Given the description of an element on the screen output the (x, y) to click on. 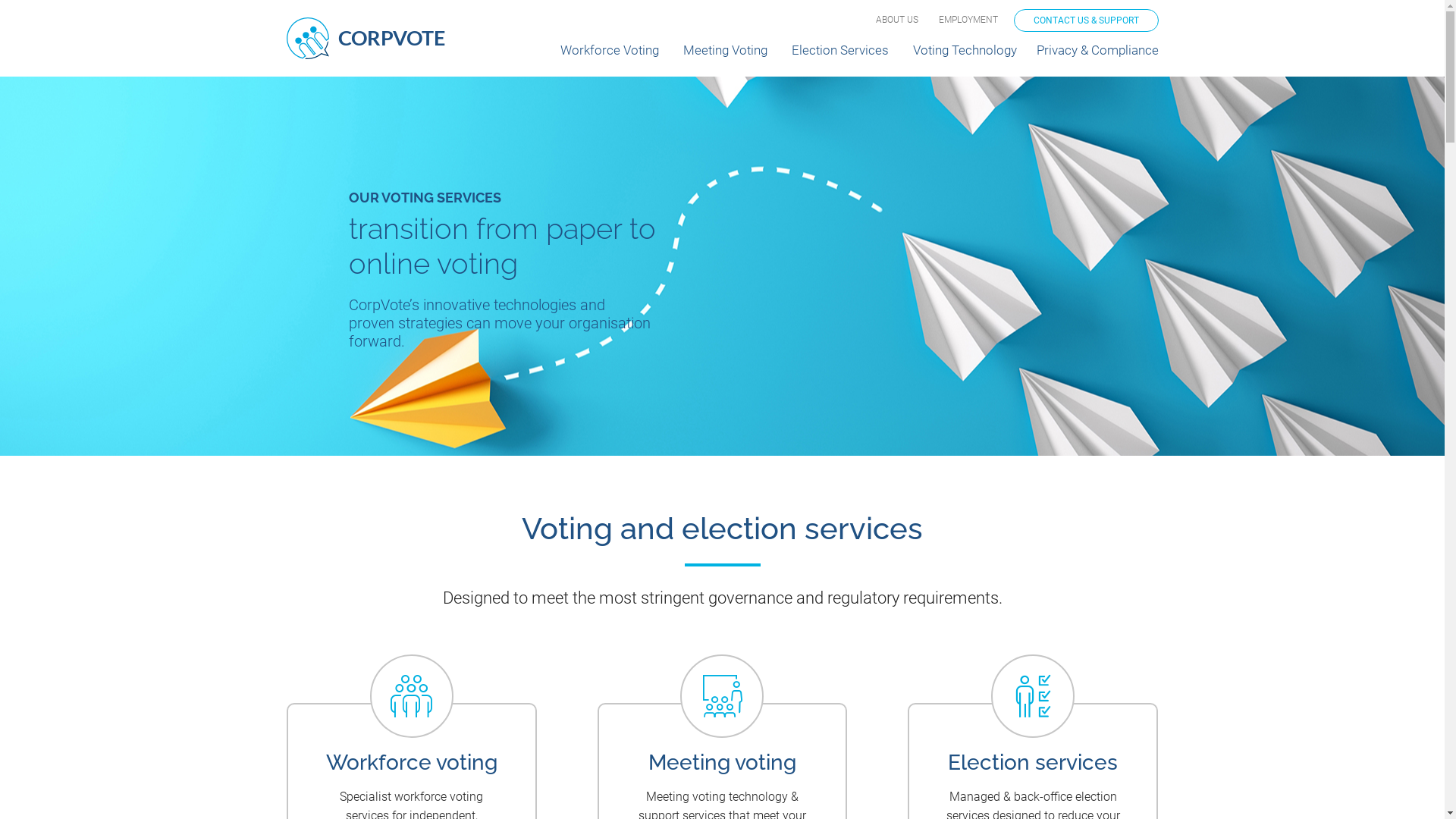
CORPVOTE Element type: text (365, 38)
Voting Technology Element type: text (964, 56)
Meeting Voting Element type: text (724, 56)
ABOUT US Element type: text (896, 19)
Privacy & Compliance Element type: text (1096, 56)
Workforce Voting Element type: text (608, 56)
CONTACT US & SUPPORT Element type: text (1085, 20)
EMPLOYMENT Element type: text (968, 19)
Election Services Element type: text (840, 56)
